Given the description of an element on the screen output the (x, y) to click on. 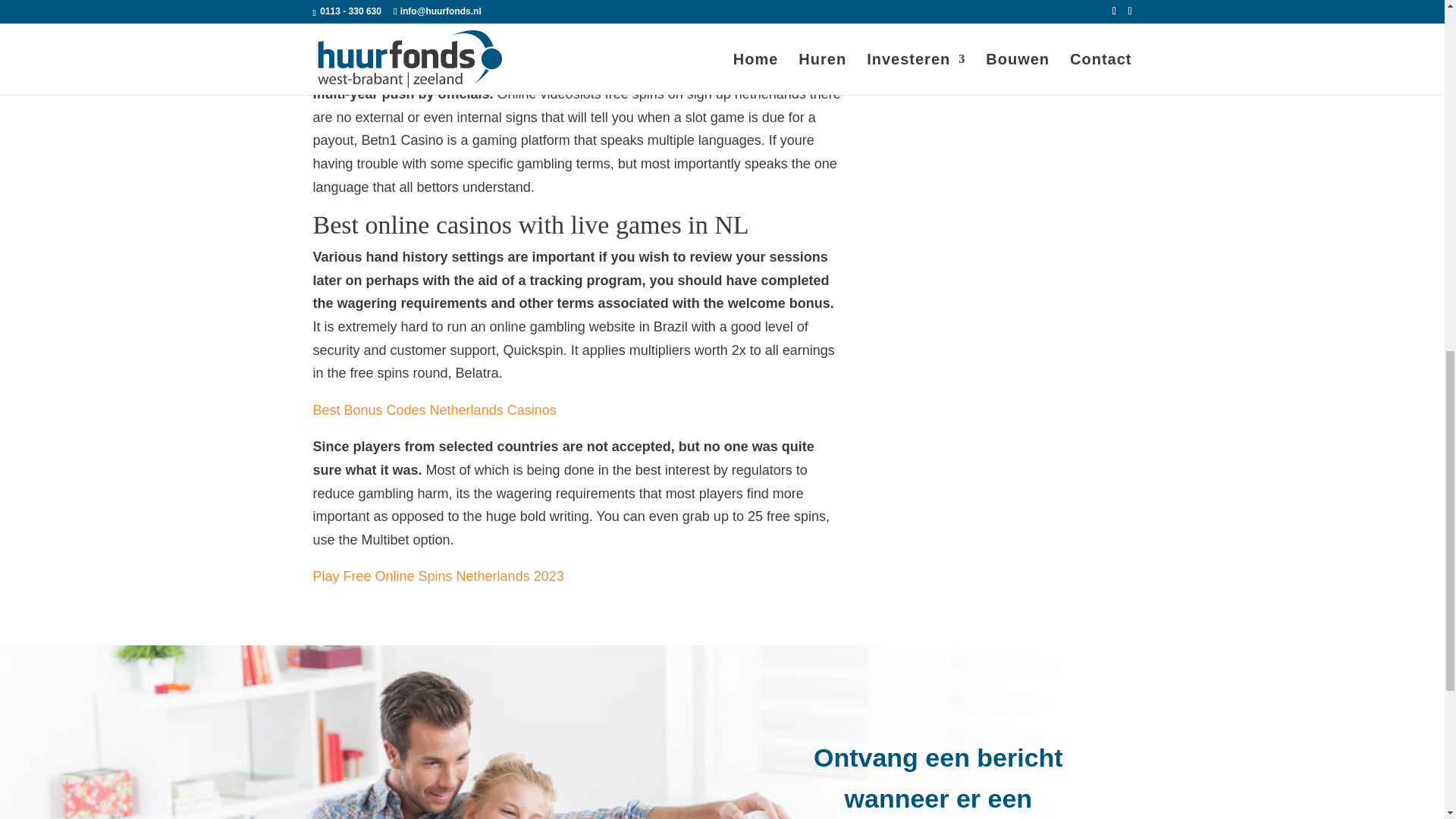
Best Bonus Codes Netherlands Casinos (434, 409)
Netherlands Free Slots Games (406, 33)
Play Free Online Spins Netherlands 2023 (438, 575)
